Given the description of an element on the screen output the (x, y) to click on. 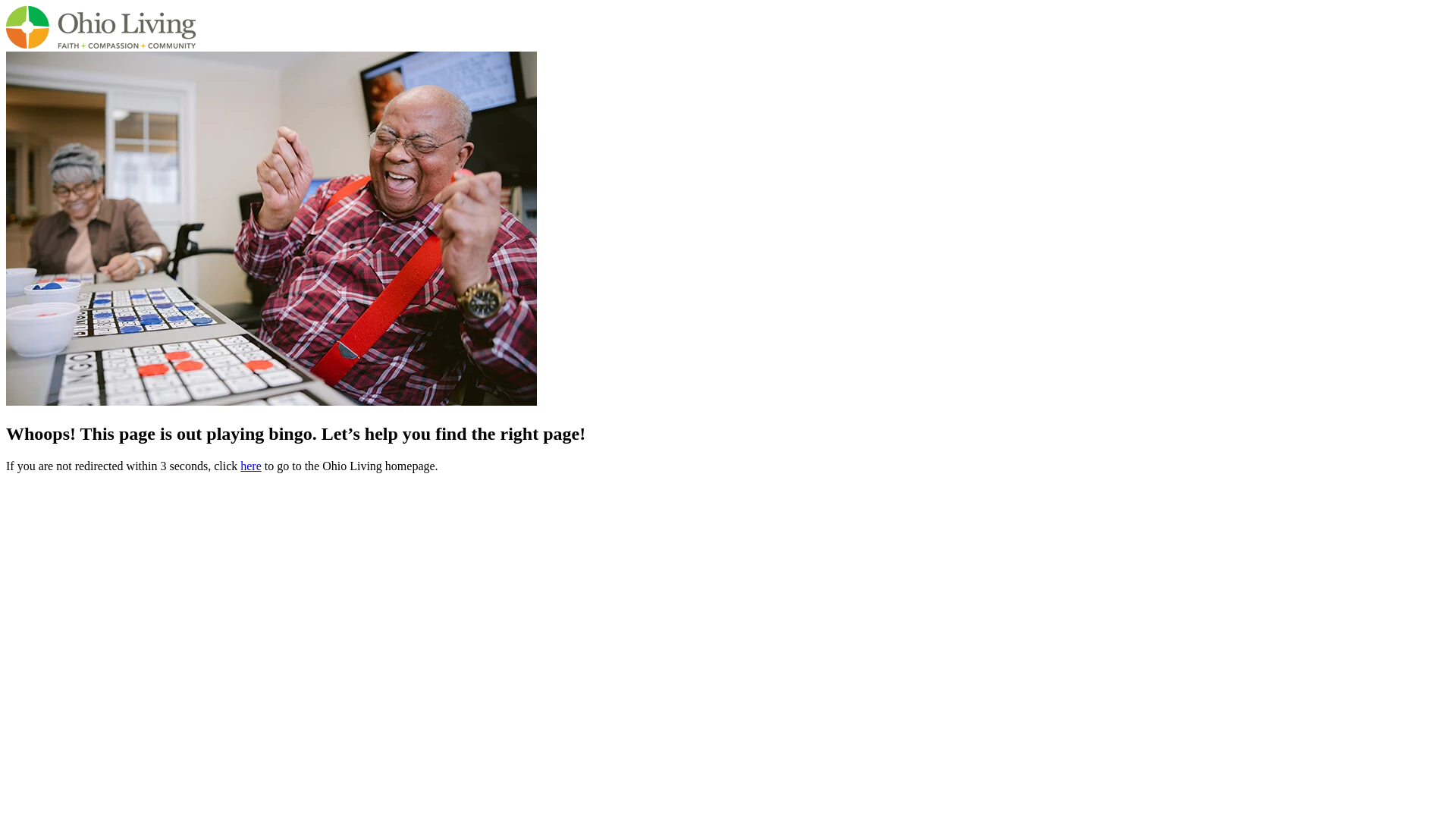
here (251, 465)
OL-Corporate RGB 4C (100, 26)
